Given the description of an element on the screen output the (x, y) to click on. 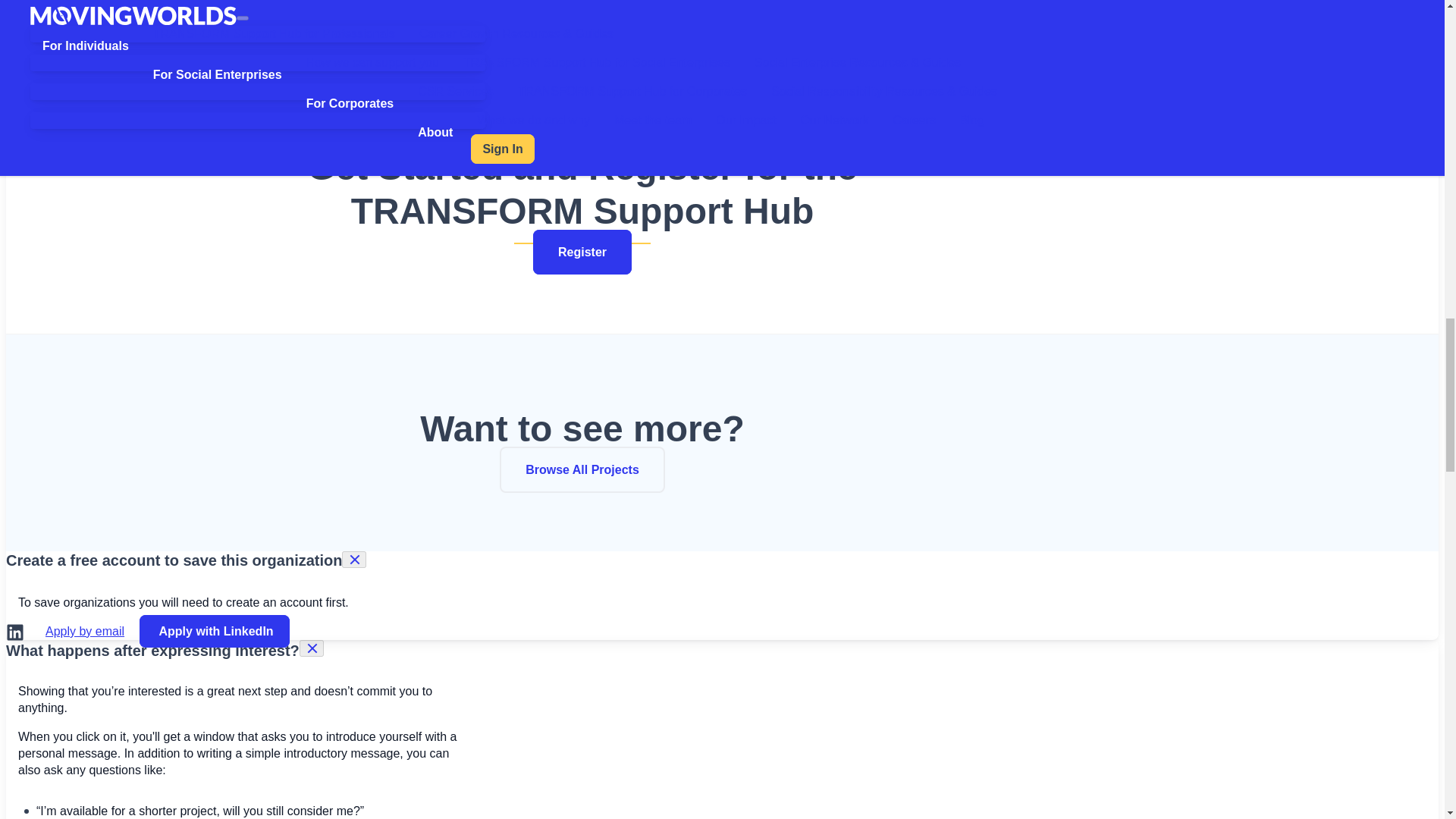
Register (581, 252)
Apply by email (84, 631)
Apply with LinkedIn (214, 631)
Browse All Projects (582, 469)
LinkedIn (14, 632)
